Given the description of an element on the screen output the (x, y) to click on. 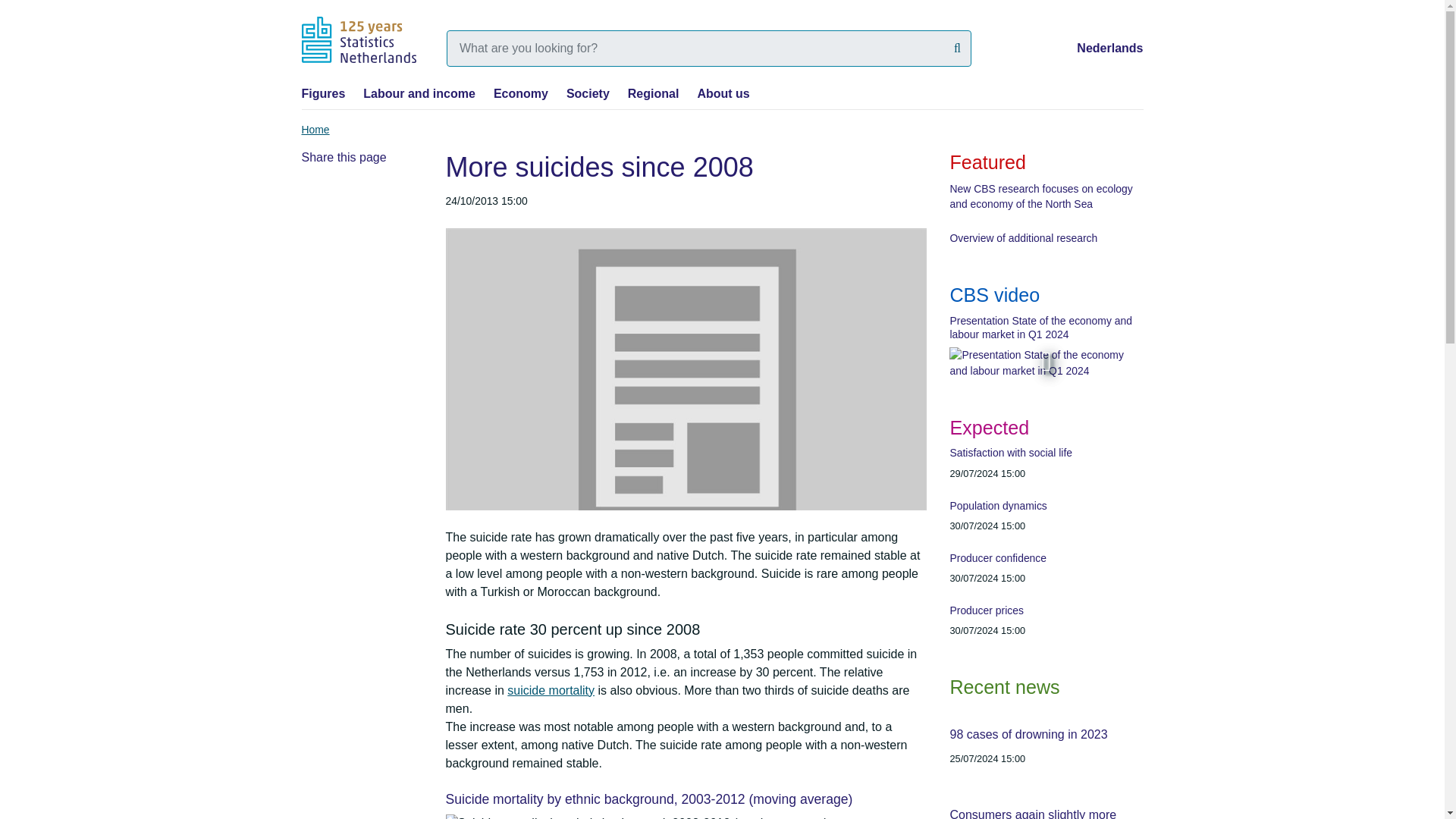
Share this page on Facebook (368, 200)
Labour and income (419, 92)
Regional (653, 92)
Nederlands (1109, 47)
Share this page on LinkedIn (315, 200)
CBS home (358, 39)
Publication calendar (1045, 541)
Society (588, 92)
Figures (323, 92)
Home (315, 130)
Search (957, 48)
Mail this page (394, 200)
What are you looking for? (957, 48)
About us (723, 92)
Share this page on X (342, 200)
